Given the description of an element on the screen output the (x, y) to click on. 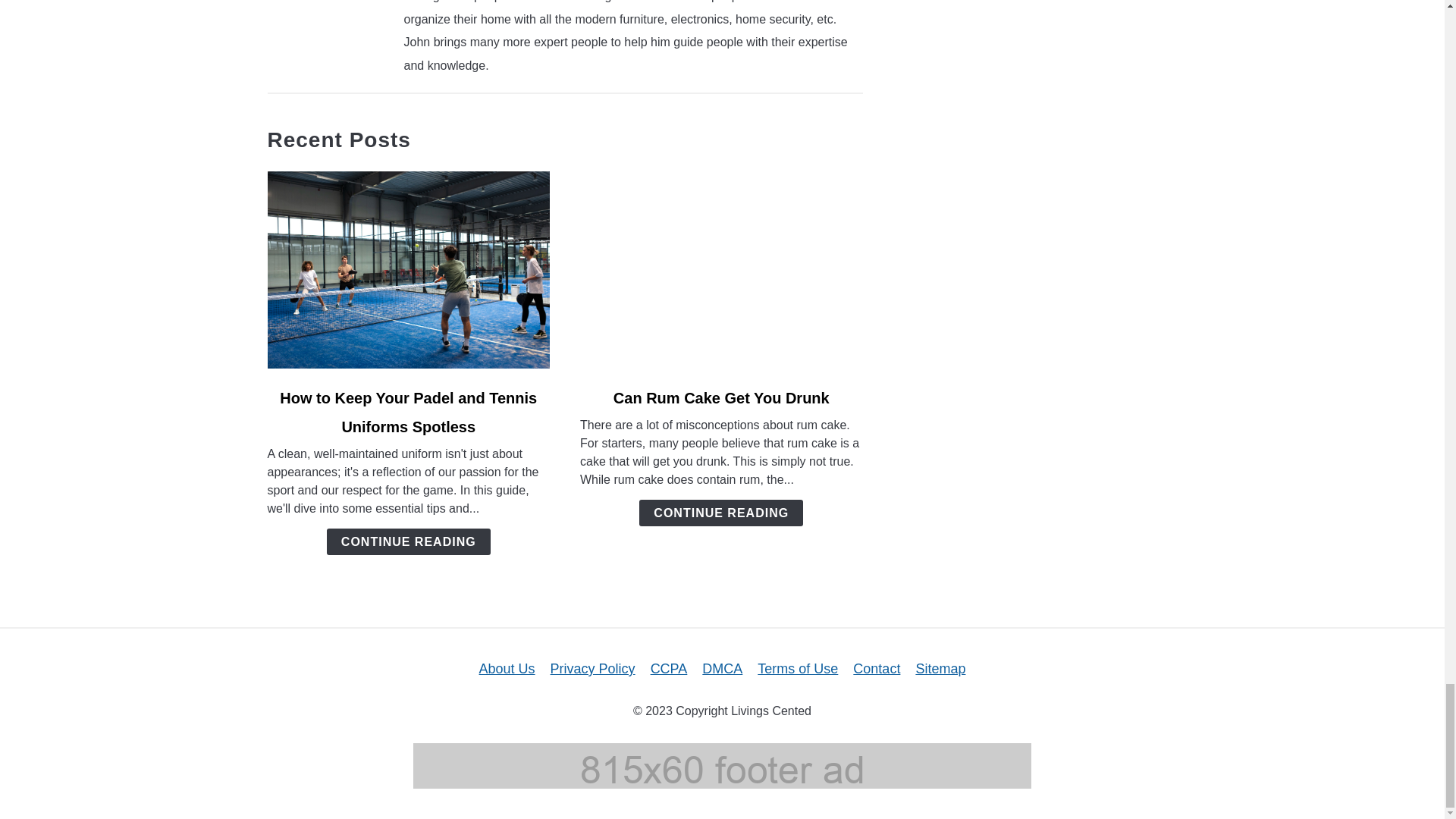
About Us (507, 668)
How to Keep Your Padel and Tennis Uniforms Spotless (408, 411)
Privacy Policy (592, 668)
link to Can Rum Cake Get You Drunk (721, 269)
Terms of Use (797, 668)
CCPA (668, 668)
CONTINUE READING (408, 541)
Sitemap (940, 668)
link to How to Keep Your Padel and Tennis Uniforms Spotless (408, 269)
DMCA (721, 668)
